Given the description of an element on the screen output the (x, y) to click on. 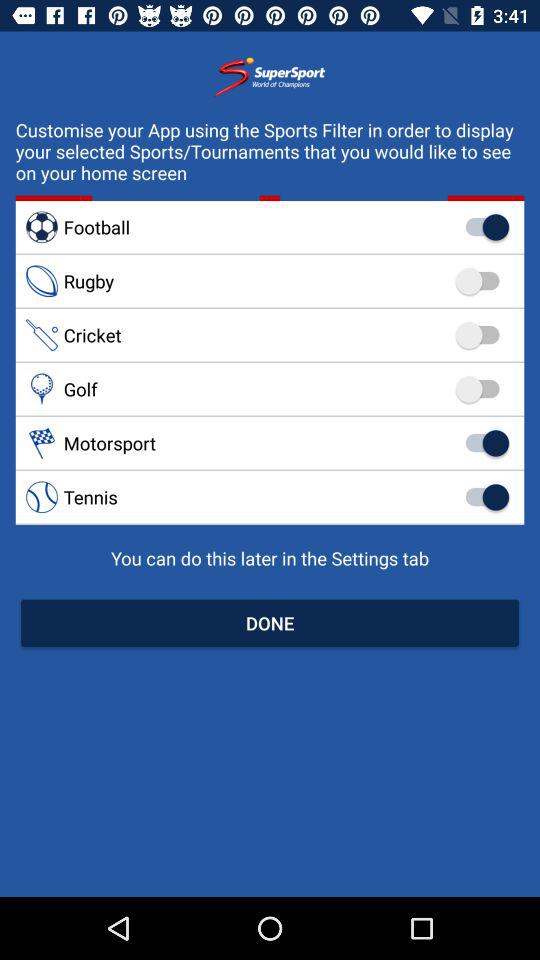
launch cricket item (269, 335)
